Given the description of an element on the screen output the (x, y) to click on. 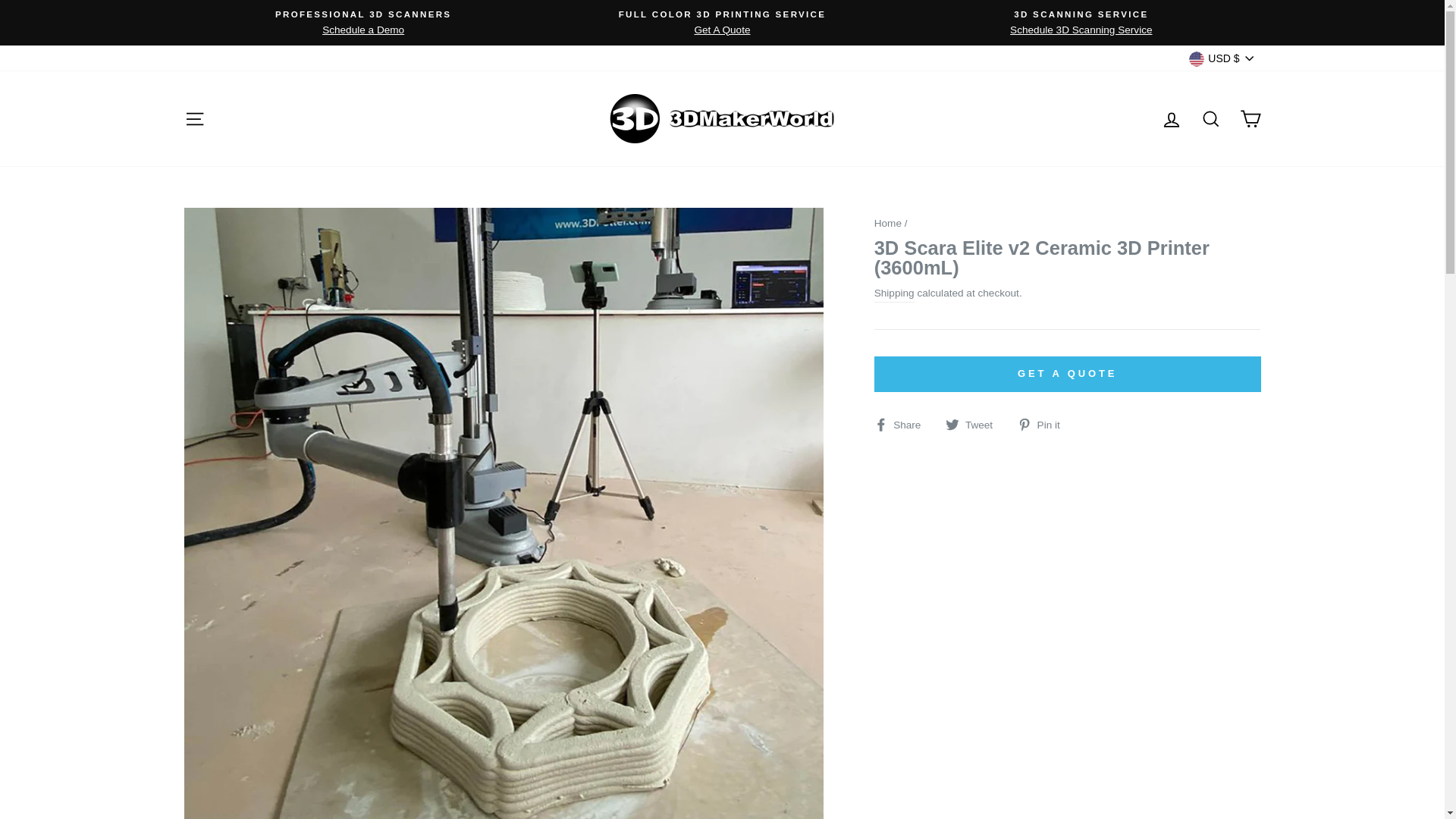
Home Element type: text (887, 223)
Search Element type: text (1210, 117)
Cart Element type: text (1249, 117)
GET A QUOTE Element type: text (1067, 373)
USD $ Element type: text (1220, 57)
Tweet
Tweet on Twitter Element type: text (974, 424)
Shipping Element type: text (894, 293)
FULL COLOR 3D PRINTING SERVICE
Get A Quote Element type: text (721, 22)
Log in Element type: text (1170, 117)
Pin it
Pin on Pinterest Element type: text (1044, 424)
Site navigation Element type: text (193, 117)
PROFESSIONAL 3D SCANNERS
Schedule a Demo Element type: text (363, 22)
Skip to content Element type: text (0, 0)
Share
Share on Facebook Element type: text (903, 424)
3D SCANNING SERVICE
Schedule 3D Scanning Service Element type: text (1080, 22)
